Given the description of an element on the screen output the (x, y) to click on. 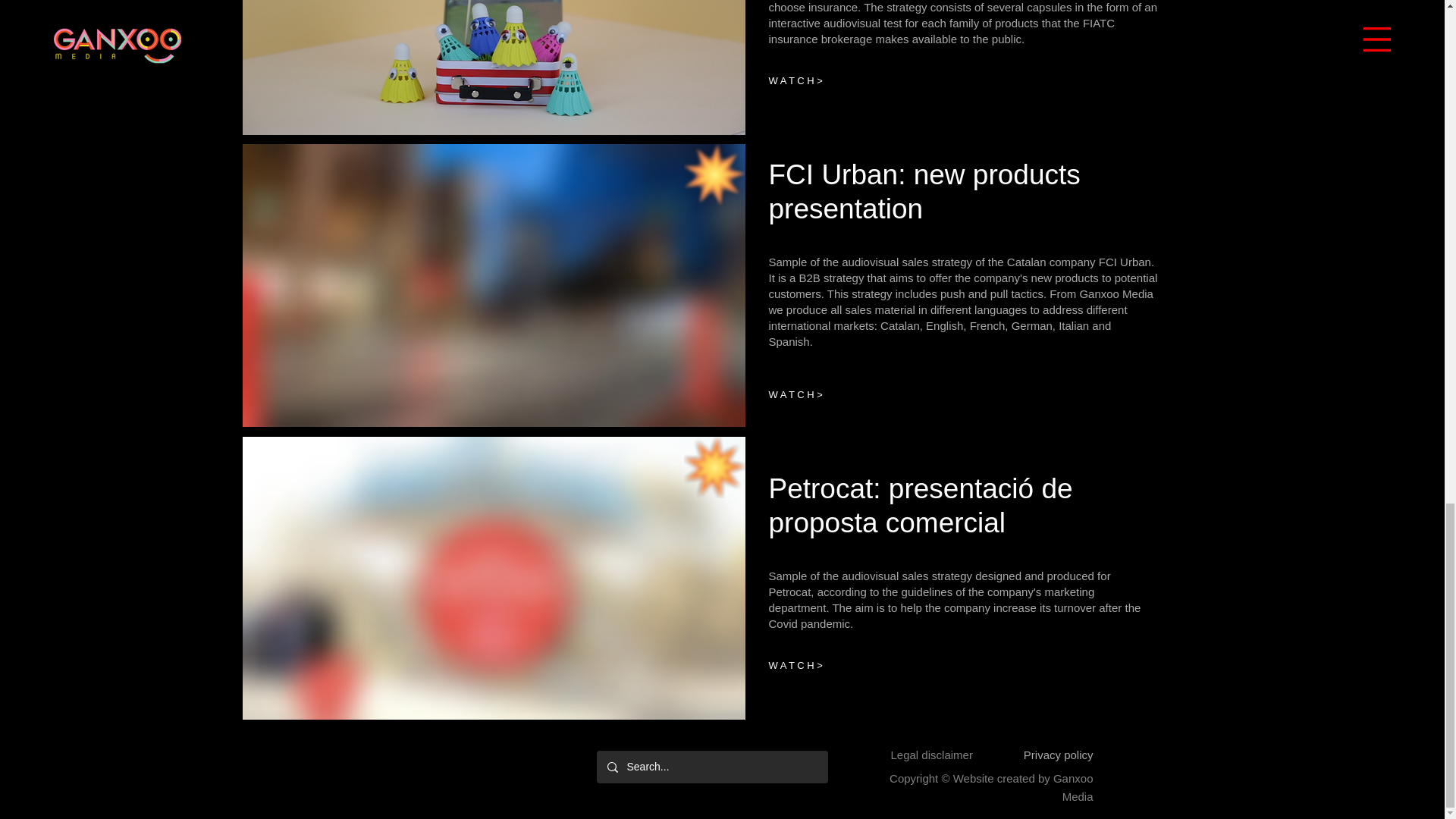
Ganxoo Media (1072, 787)
FCI Urban: new products presentation (924, 190)
Legal disclaimer (930, 754)
Privacy policy (1058, 754)
